Given the description of an element on the screen output the (x, y) to click on. 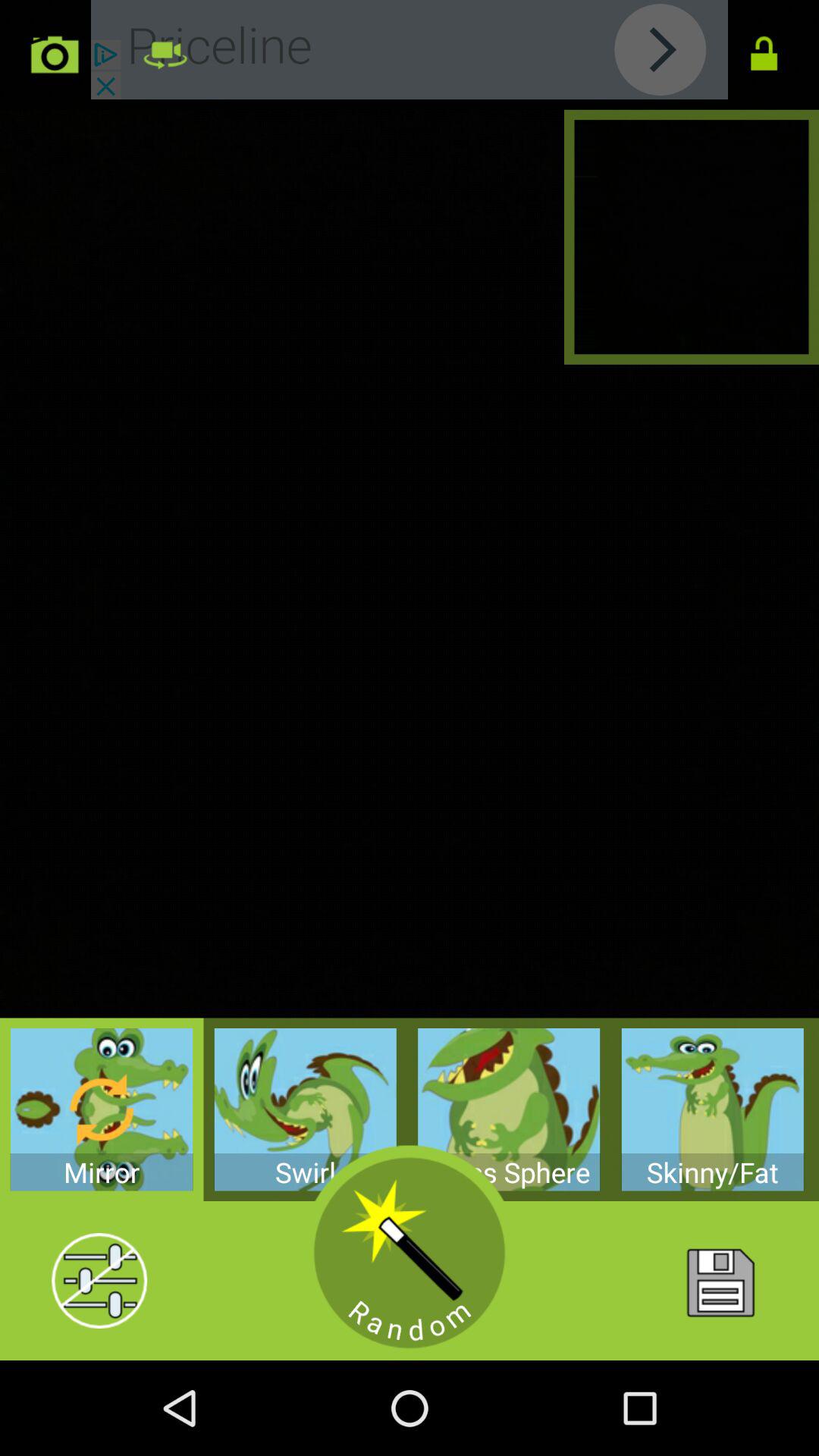
game menu button (719, 1280)
